Given the description of an element on the screen output the (x, y) to click on. 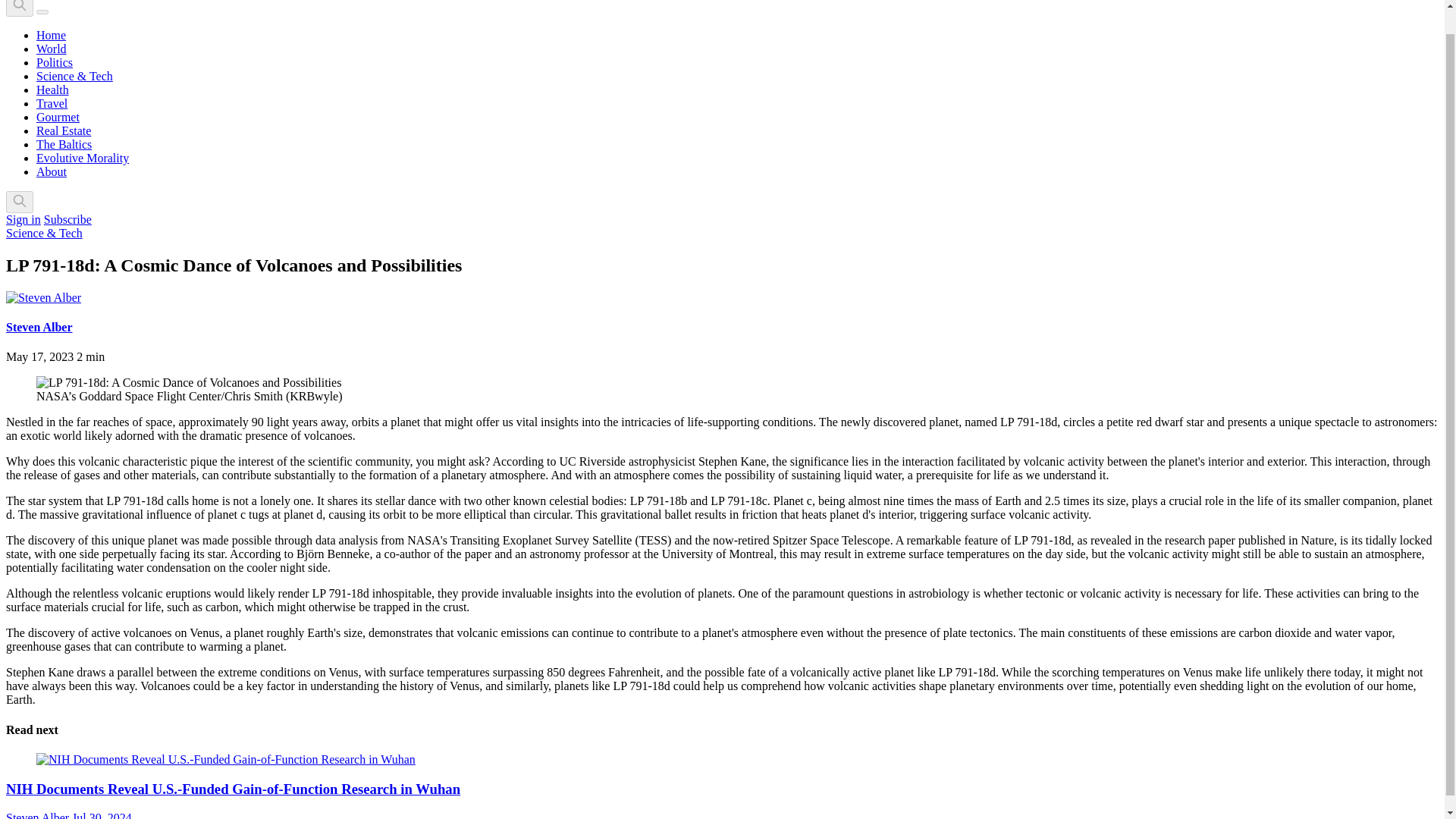
The Baltics (63, 144)
Steven Alber (38, 327)
About (51, 171)
Health (52, 89)
Home (50, 34)
Travel (51, 103)
Evolutive Morality (82, 157)
Real Estate (63, 130)
Sign in (22, 219)
Gourmet (58, 116)
Politics (54, 62)
Subscribe (67, 219)
World (51, 48)
